Given the description of an element on the screen output the (x, y) to click on. 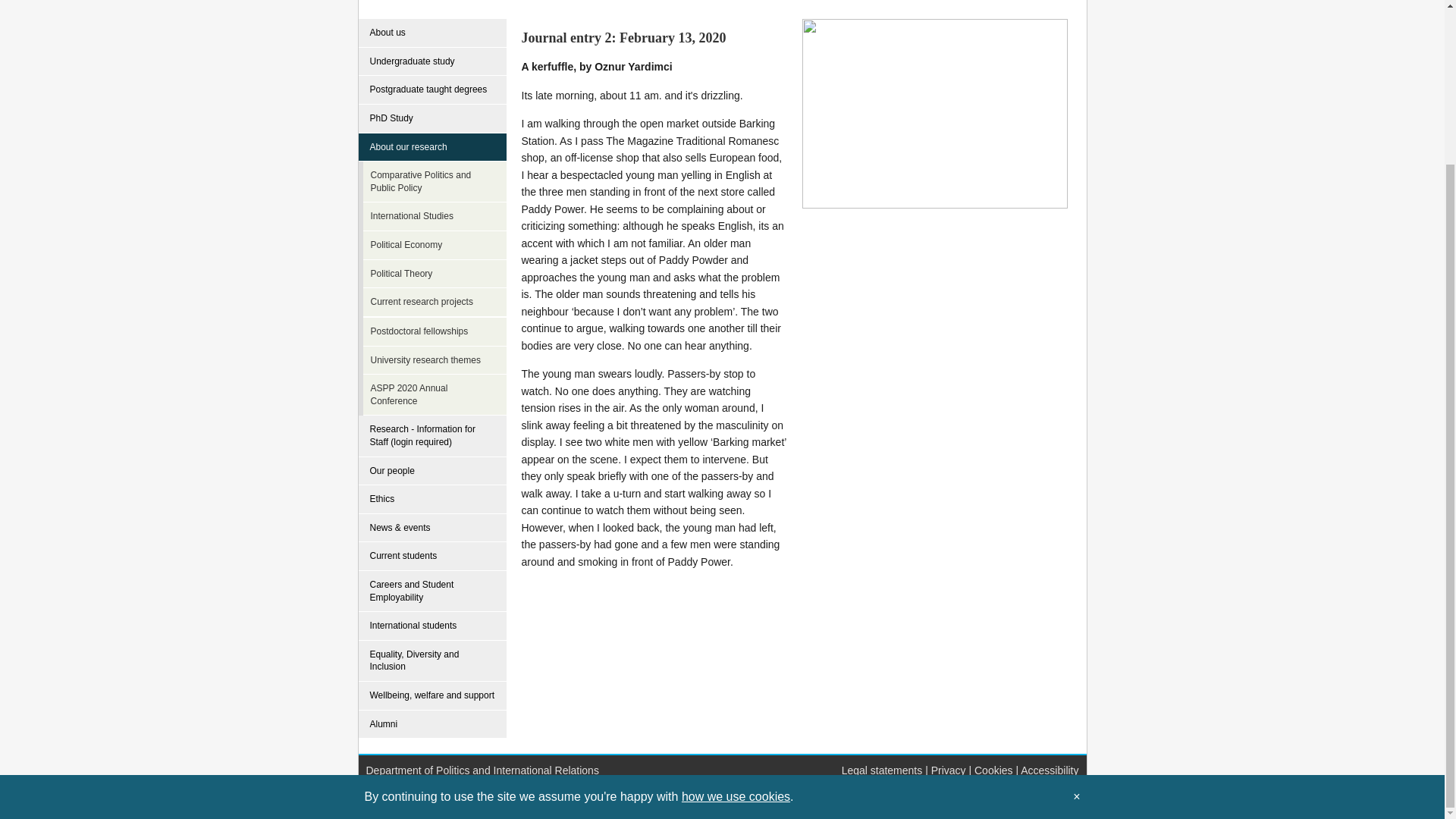
Ethics (432, 499)
ASPP 2020 Annual Conference (436, 394)
Careers and Student Employability (432, 590)
Comparative Politics and Public Policy (436, 181)
Current research projects (436, 302)
Alumni (432, 724)
Political Economy (436, 245)
Undergraduate study (432, 61)
About us (432, 32)
Equality, Diversity and Inclusion (432, 660)
